Given the description of an element on the screen output the (x, y) to click on. 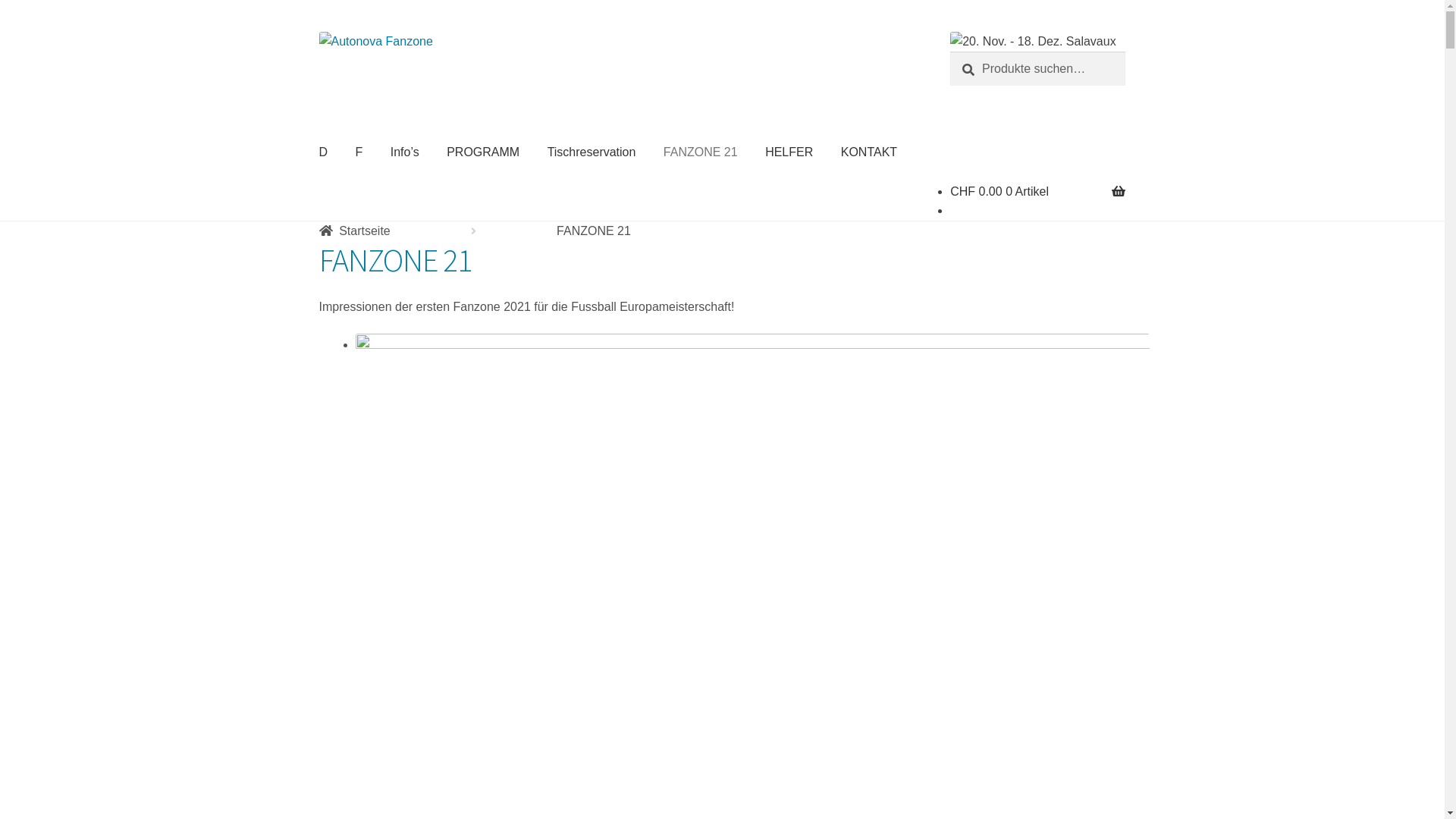
Suche Element type: text (949, 50)
PROGRAMM Element type: text (482, 152)
D Element type: text (323, 152)
Tischreservation Element type: text (591, 152)
F Element type: text (359, 152)
Startseite Element type: text (354, 230)
FANZONE 21 Element type: text (700, 152)
HELFER Element type: text (789, 152)
Skip to navigation Element type: text (318, 31)
CHF 0.00 0 Artikel Element type: text (999, 191)
KONTAKT Element type: text (868, 152)
